Given the description of an element on the screen output the (x, y) to click on. 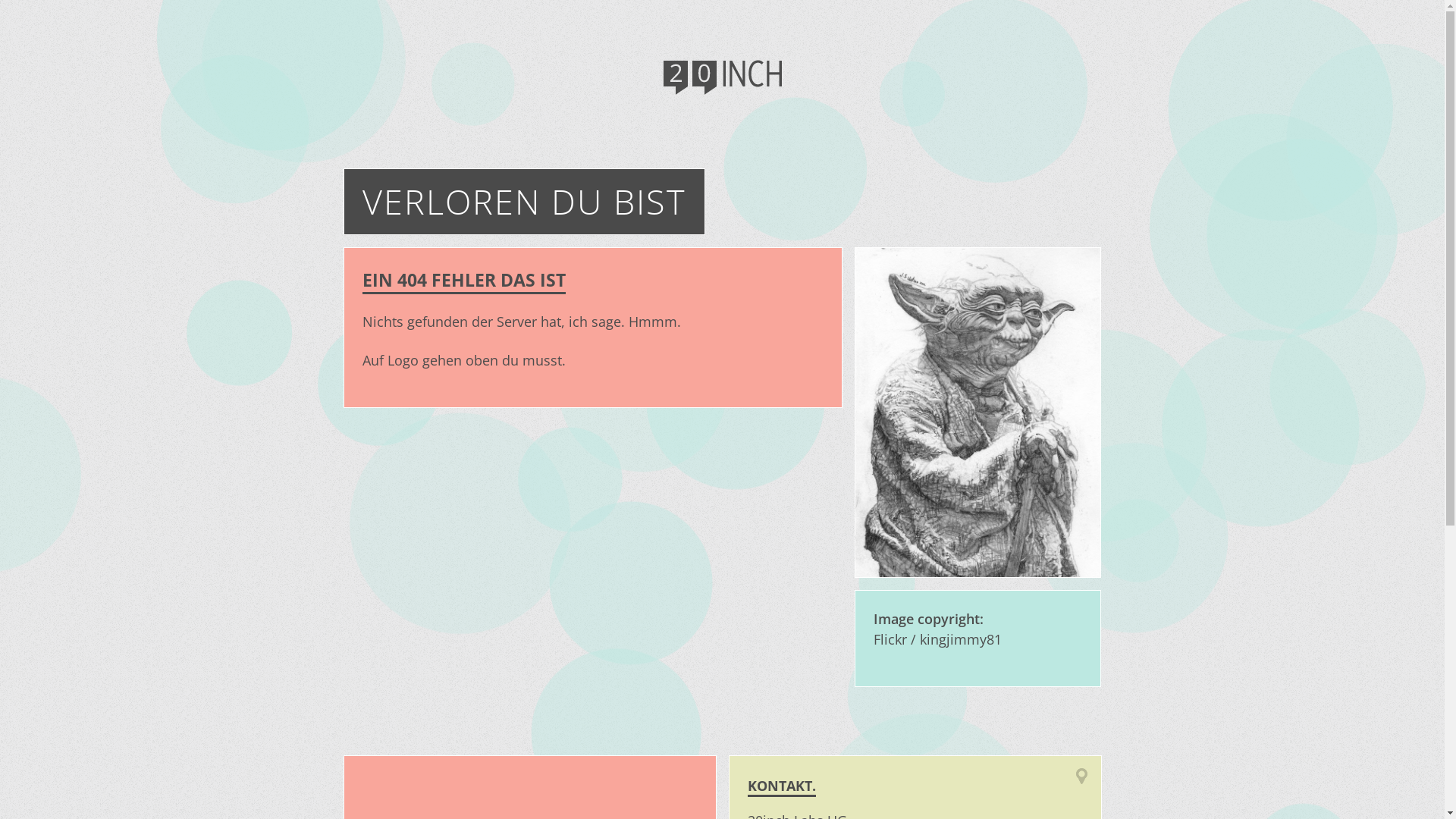
Flickr / kingjimmy81 Element type: text (937, 639)
20inch labs Element type: text (721, 79)
